Given the description of an element on the screen output the (x, y) to click on. 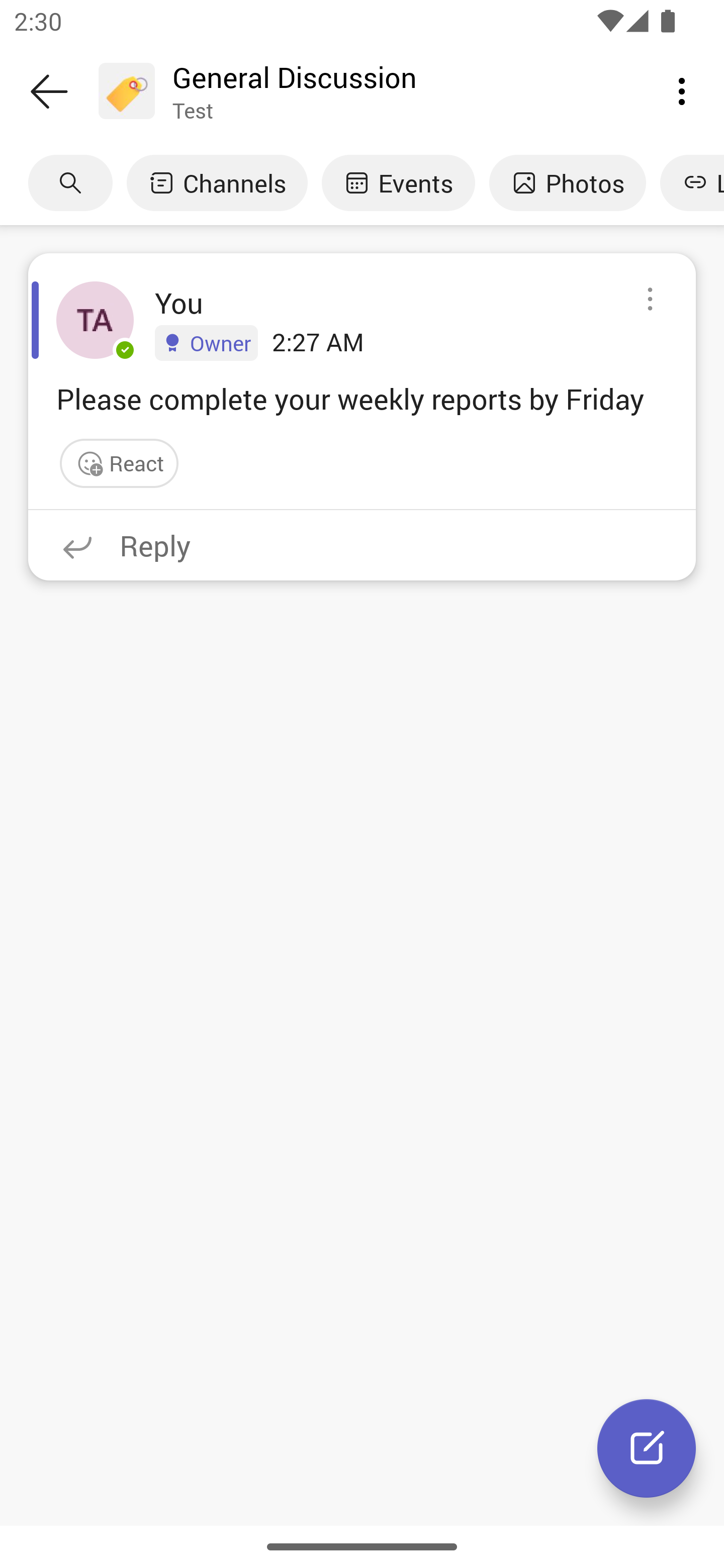
Back (49, 91)
More options (681, 90)
Search tab, 1 of 6 (70, 183)
Channels tab, 2 of 6 Channels (216, 183)
Events tab, 3 of 6 Events (397, 183)
Photos tab, 4 of 6 Photos (567, 183)
Message options button (650, 299)
Test Appium profile picture, Status: Available (94, 319)
You (178, 302)
Owner (205, 342)
Please complete your weekly reports by Friday (361, 398)
Open reactions React (119, 463)
Reply (361, 544)
New conversation (646, 1447)
